Given the description of an element on the screen output the (x, y) to click on. 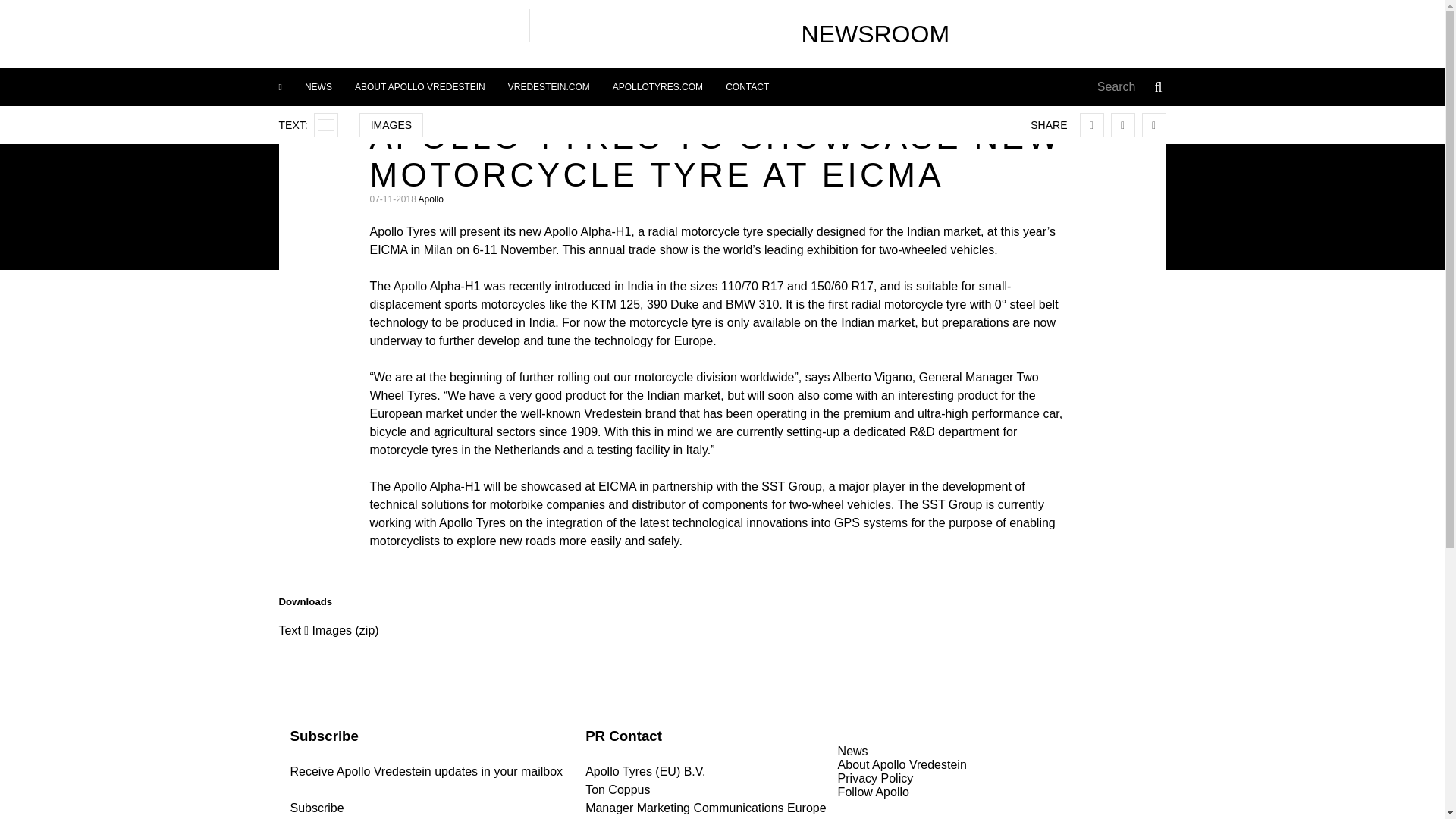
Subscribe (318, 807)
IMAGES (391, 125)
APOLLOTYRES.COM (657, 86)
CONTACT (747, 86)
News (852, 750)
VREDESTEIN.COM (548, 86)
Privacy Policy (876, 778)
Apollo (431, 199)
NEWS (318, 86)
About Apollo Vredestein (902, 764)
